Given the description of an element on the screen output the (x, y) to click on. 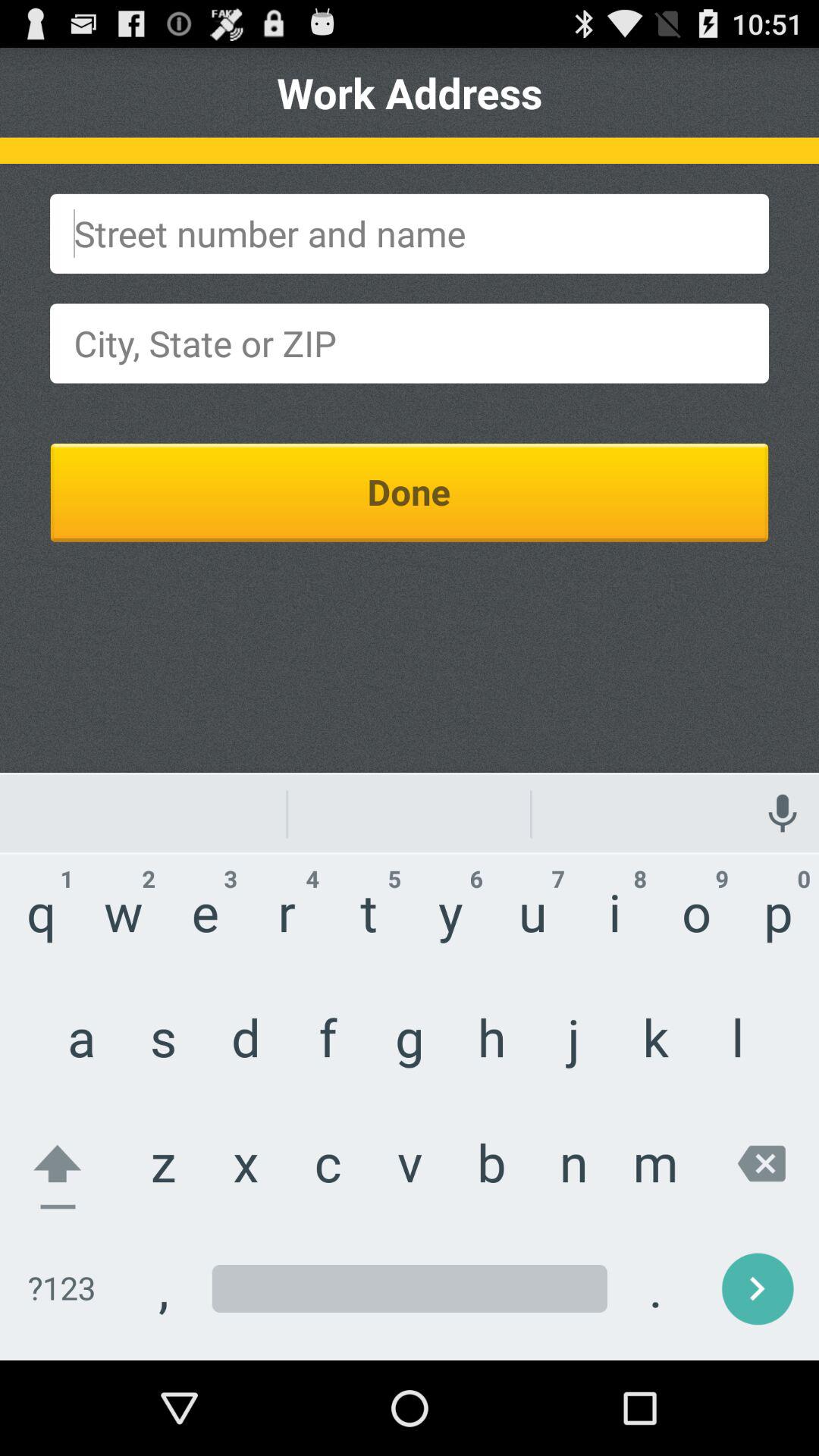
enter text (409, 343)
